Given the description of an element on the screen output the (x, y) to click on. 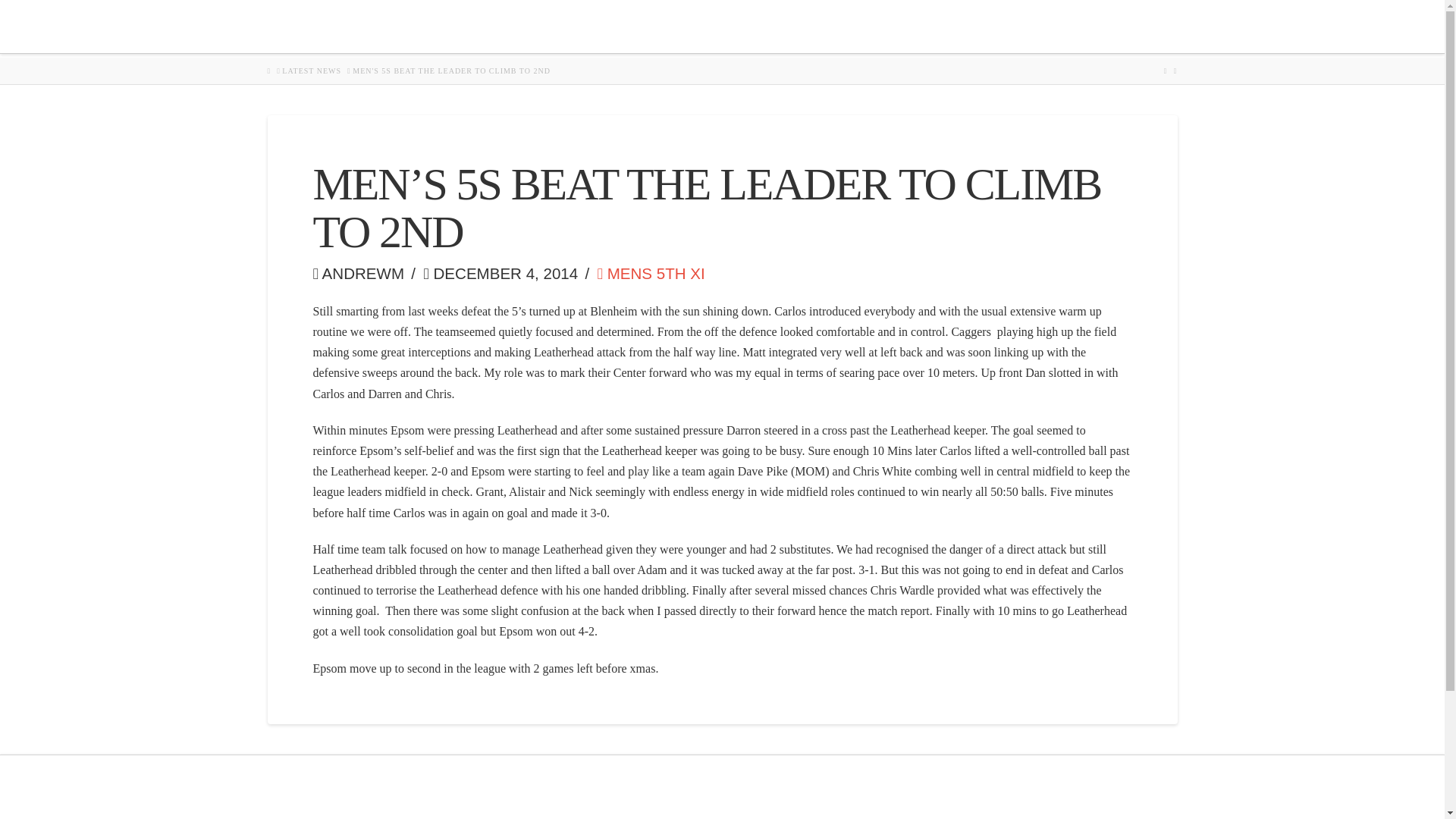
HOME (369, 26)
CONTACT US (1087, 26)
ADULTS (993, 26)
OUR SPONSORS (519, 26)
CLUB INFORMATION (794, 26)
JUNIORS (911, 26)
You Are Here (451, 70)
NEWS (432, 26)
